Given the description of an element on the screen output the (x, y) to click on. 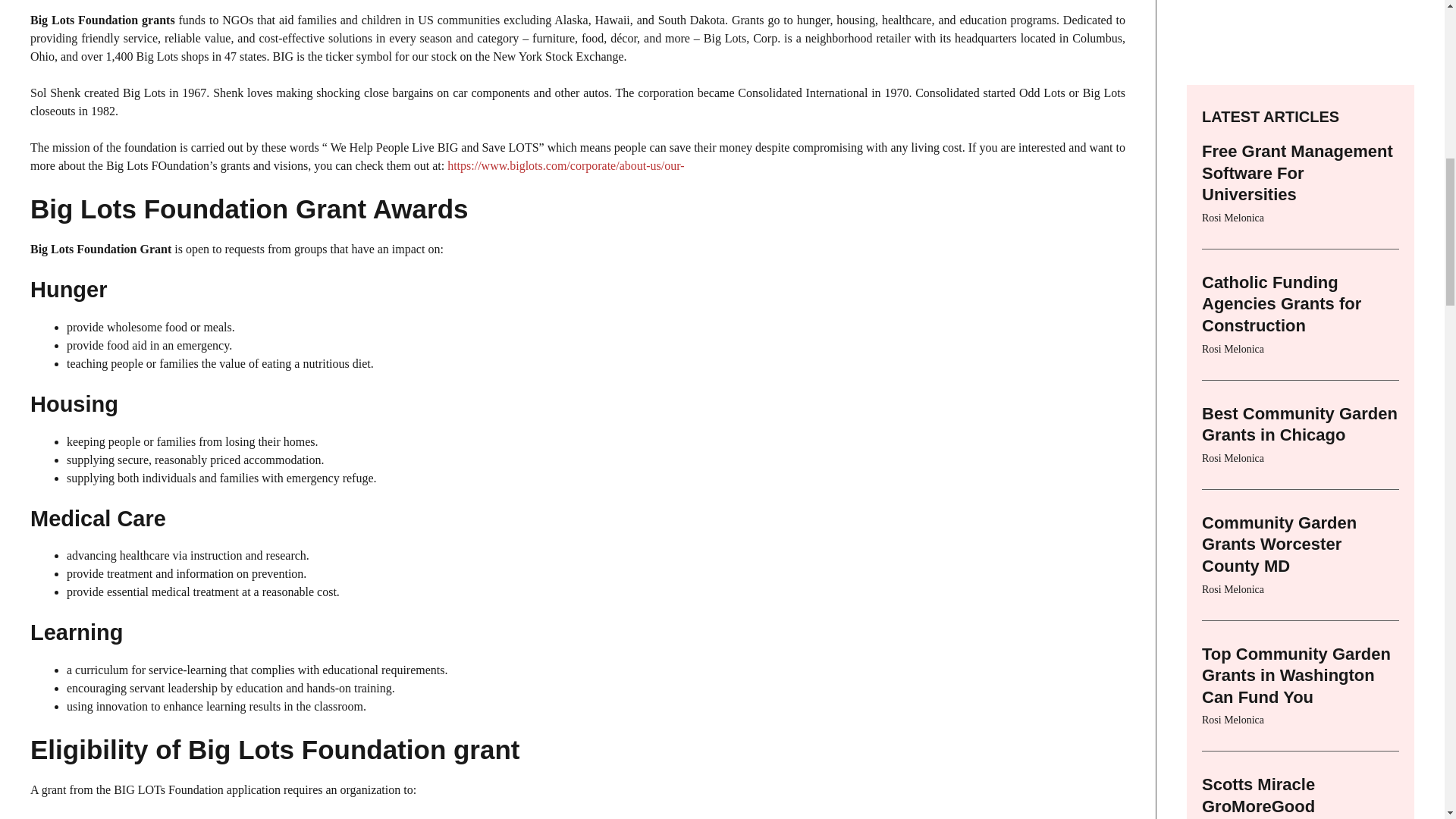
Catholic Funding Agencies Grants for Construction (1281, 48)
Scroll back to top (1406, 720)
Rosi Melonica (1232, 202)
Best Community Garden Grants in Chicago (1299, 168)
Rosi Melonica (1232, 93)
